Given the description of an element on the screen output the (x, y) to click on. 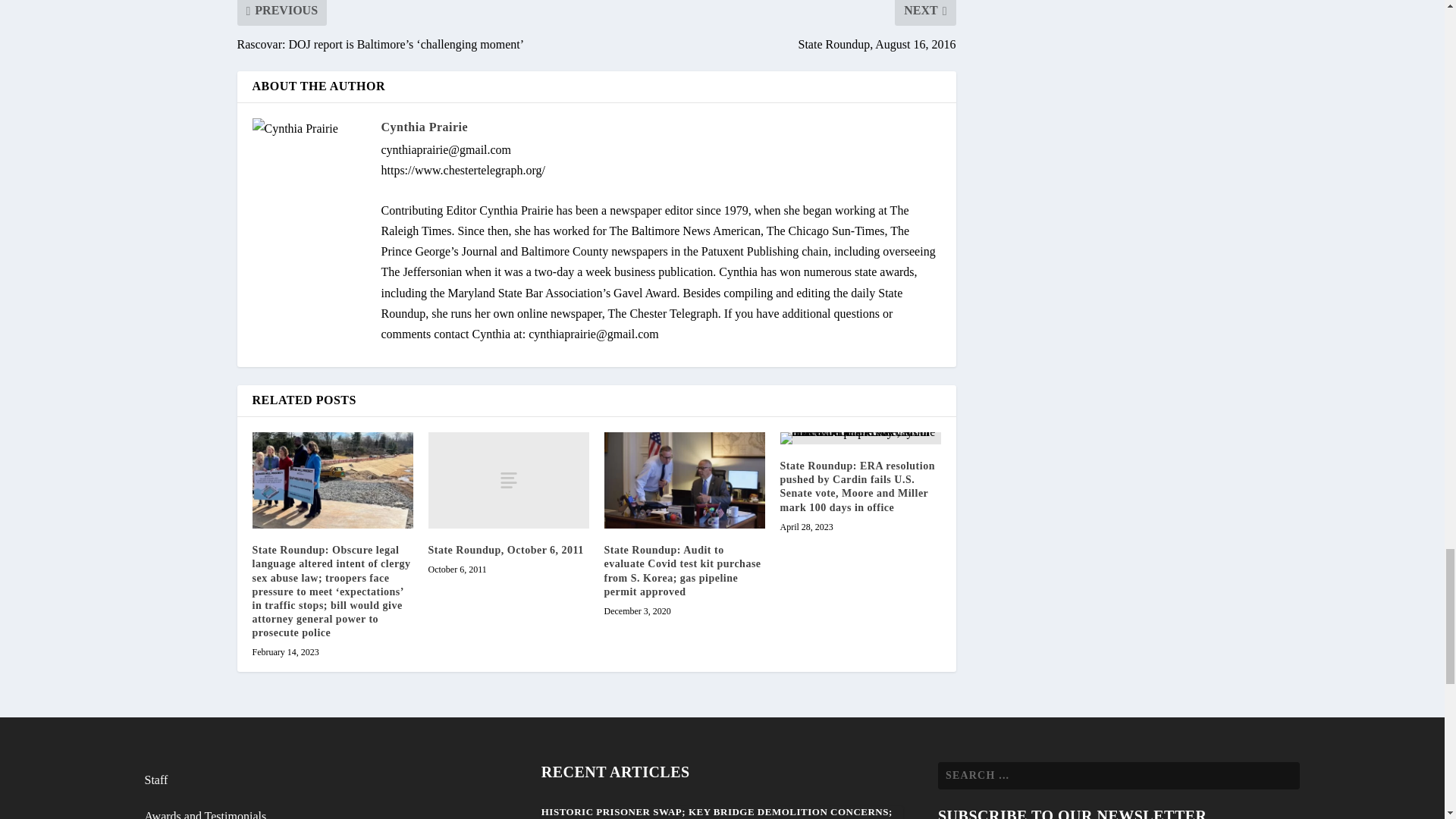
State Roundup, October 6, 2011 (508, 480)
View all posts by Cynthia Prairie (423, 126)
